Given the description of an element on the screen output the (x, y) to click on. 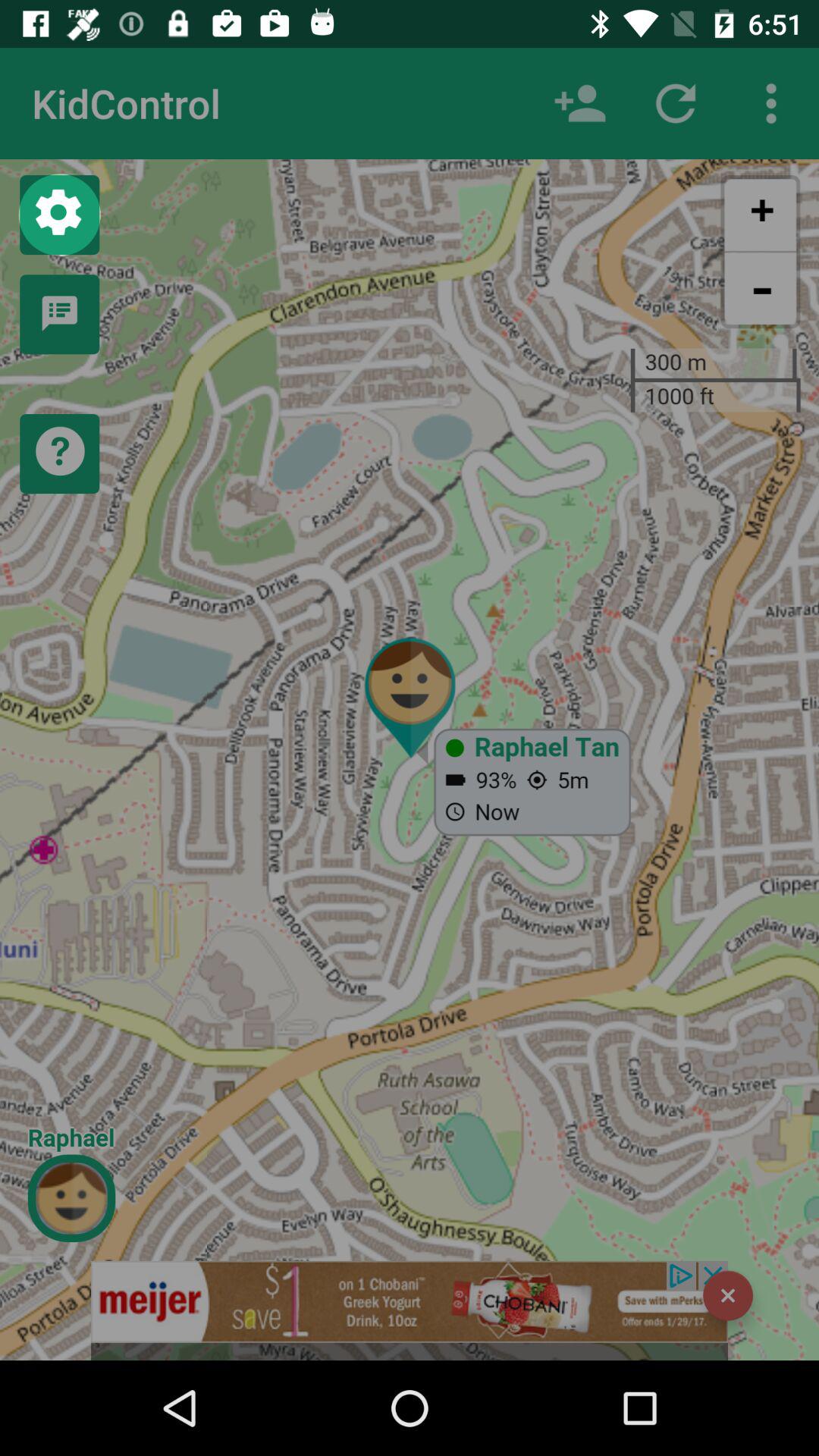
close-out google advet (727, 1295)
